Given the description of an element on the screen output the (x, y) to click on. 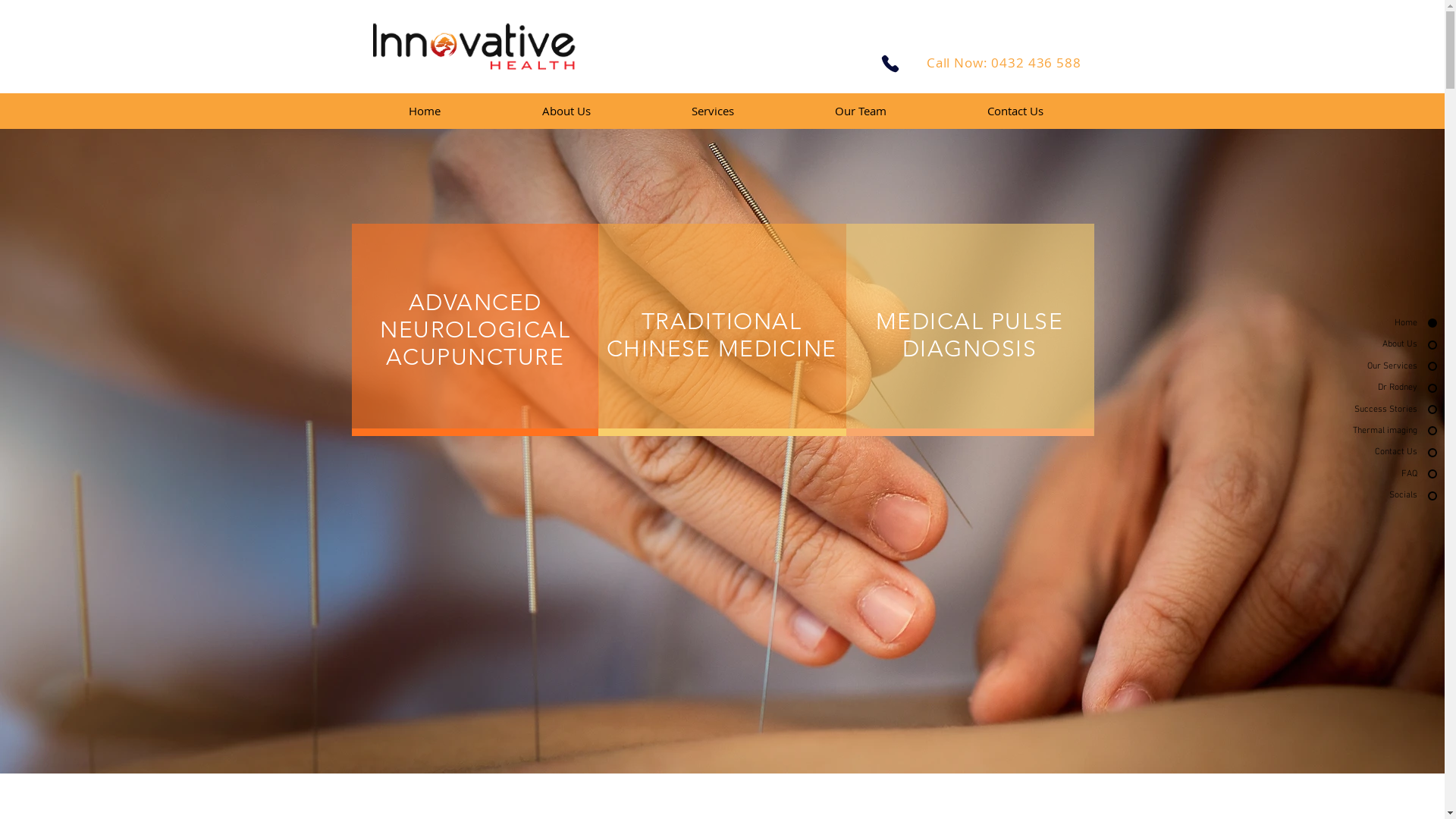
ADVANCED NEUROLOGICAL ACUPUNCTURE Element type: text (474, 329)
TRADITIONAL CHINESE MEDICINE Element type: text (721, 334)
Socials Element type: text (1357, 495)
Home Element type: text (1357, 322)
Dr Rodney Element type: text (1357, 387)
Success Stories Element type: text (1357, 409)
Thermal imaging Element type: text (1357, 430)
logo.png Element type: hover (475, 48)
Contact Us Element type: text (1357, 451)
Home Element type: text (424, 110)
Contact Us Element type: text (1015, 110)
Our Team Element type: text (860, 110)
FAQ Element type: text (1357, 473)
Call Now: 0432 436 588  Element type: text (1005, 62)
MEDICAL PULSE DIAGNOSIS Element type: text (969, 334)
Services Element type: text (712, 110)
About Us Element type: text (566, 110)
Our Services Element type: text (1357, 366)
About Us Element type: text (1357, 344)
